Given the description of an element on the screen output the (x, y) to click on. 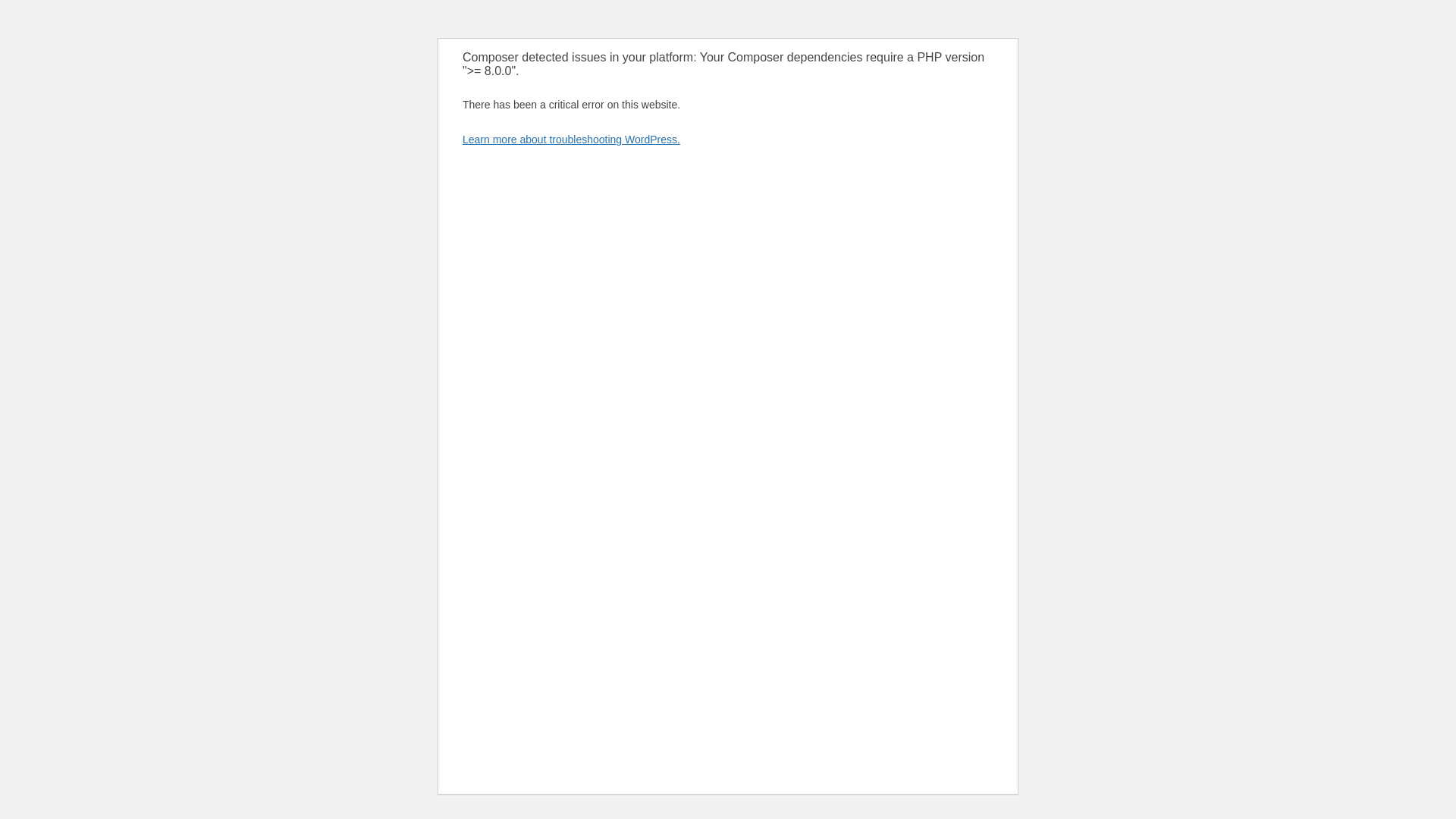
Learn more about troubleshooting WordPress. (571, 139)
